Given the description of an element on the screen output the (x, y) to click on. 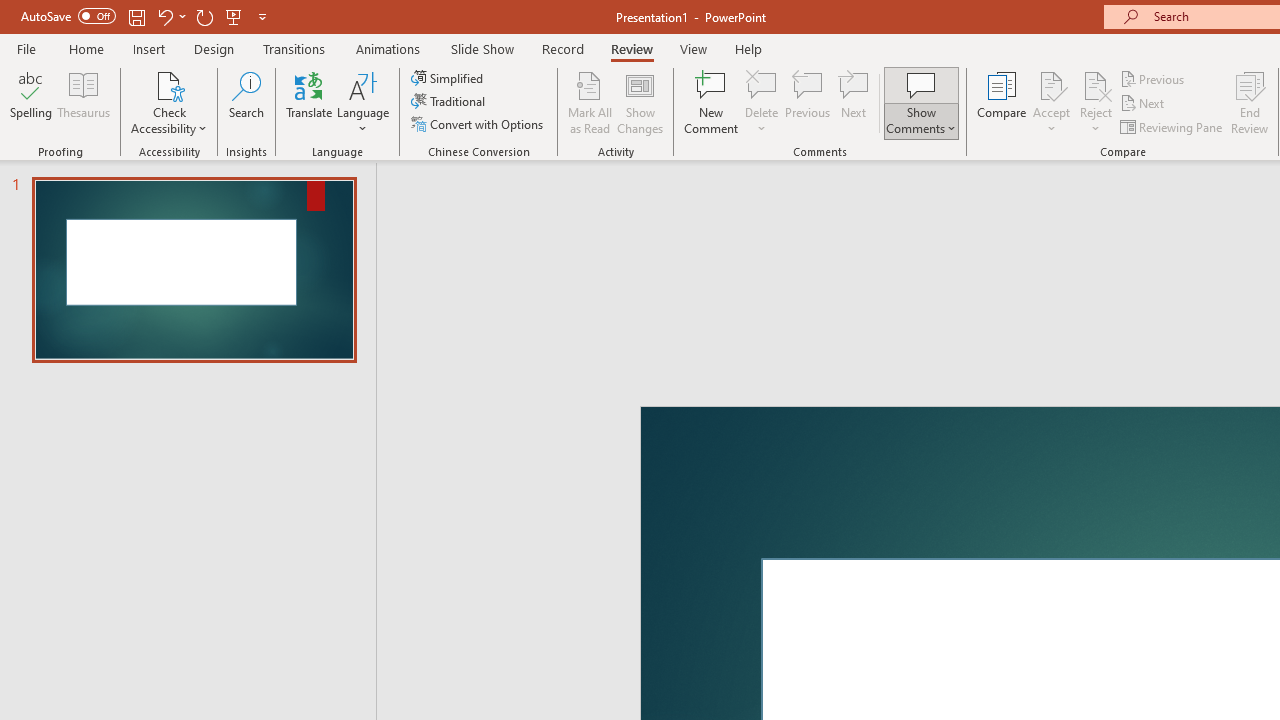
Previous (1153, 78)
Convert with Options... (479, 124)
New Comment (711, 102)
